Given the description of an element on the screen output the (x, y) to click on. 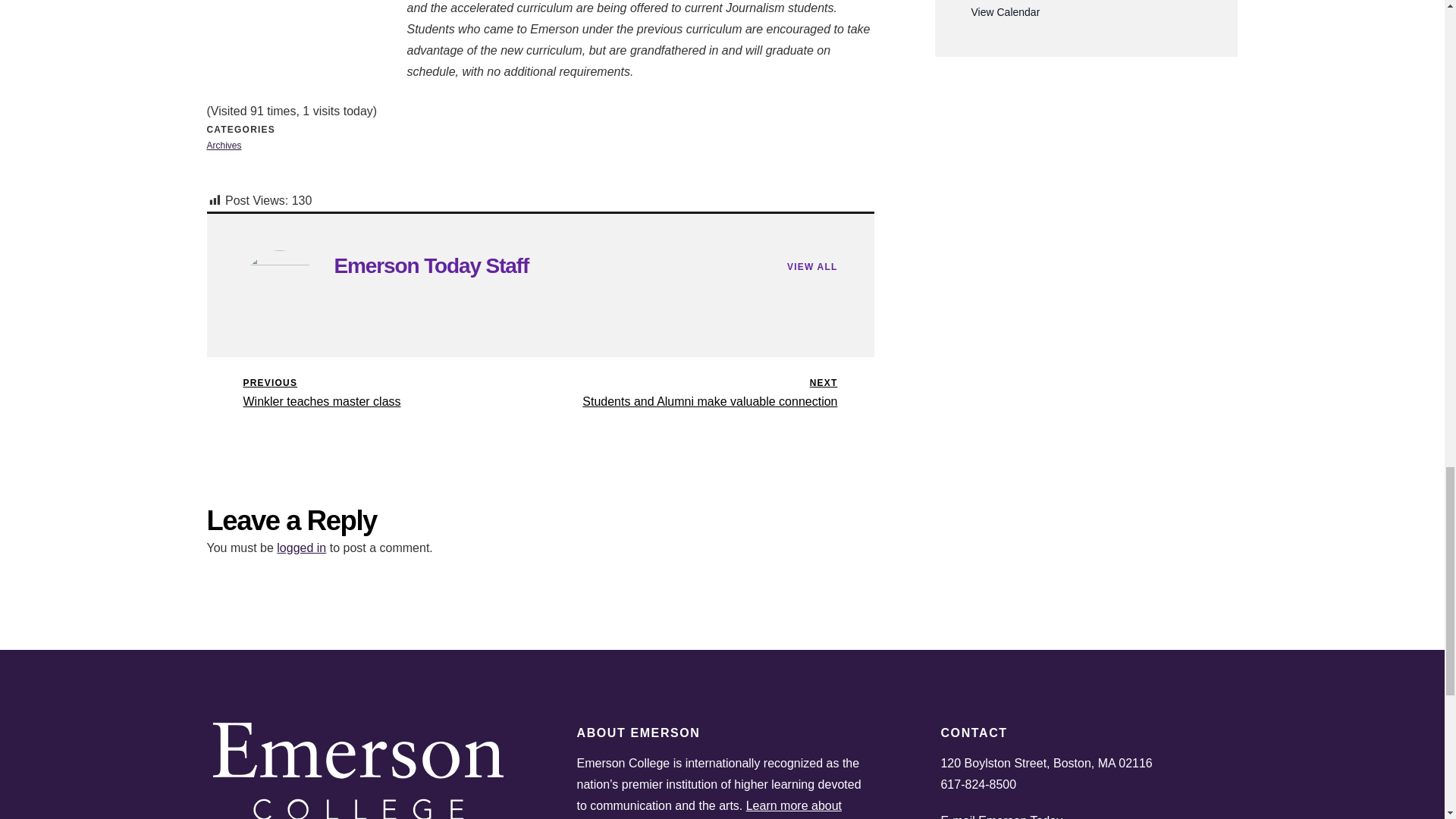
Archives (706, 393)
logged in (430, 265)
View more events. (223, 145)
